Given the description of an element on the screen output the (x, y) to click on. 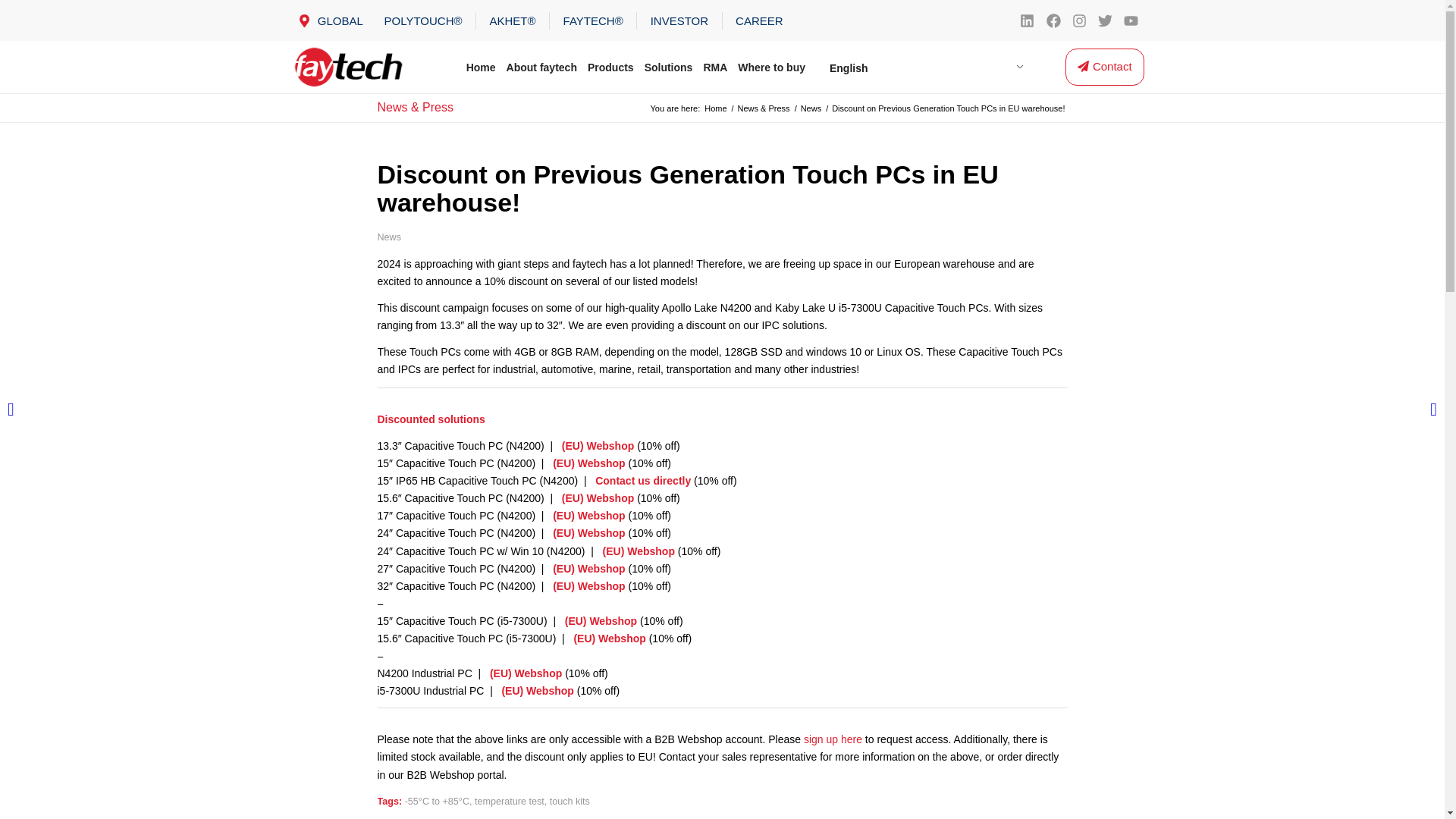
Home (480, 67)
About faytech (541, 67)
INVESTOR (678, 20)
English (922, 68)
faytech AG (715, 108)
CAREER (759, 20)
Products (610, 67)
